Given the description of an element on the screen output the (x, y) to click on. 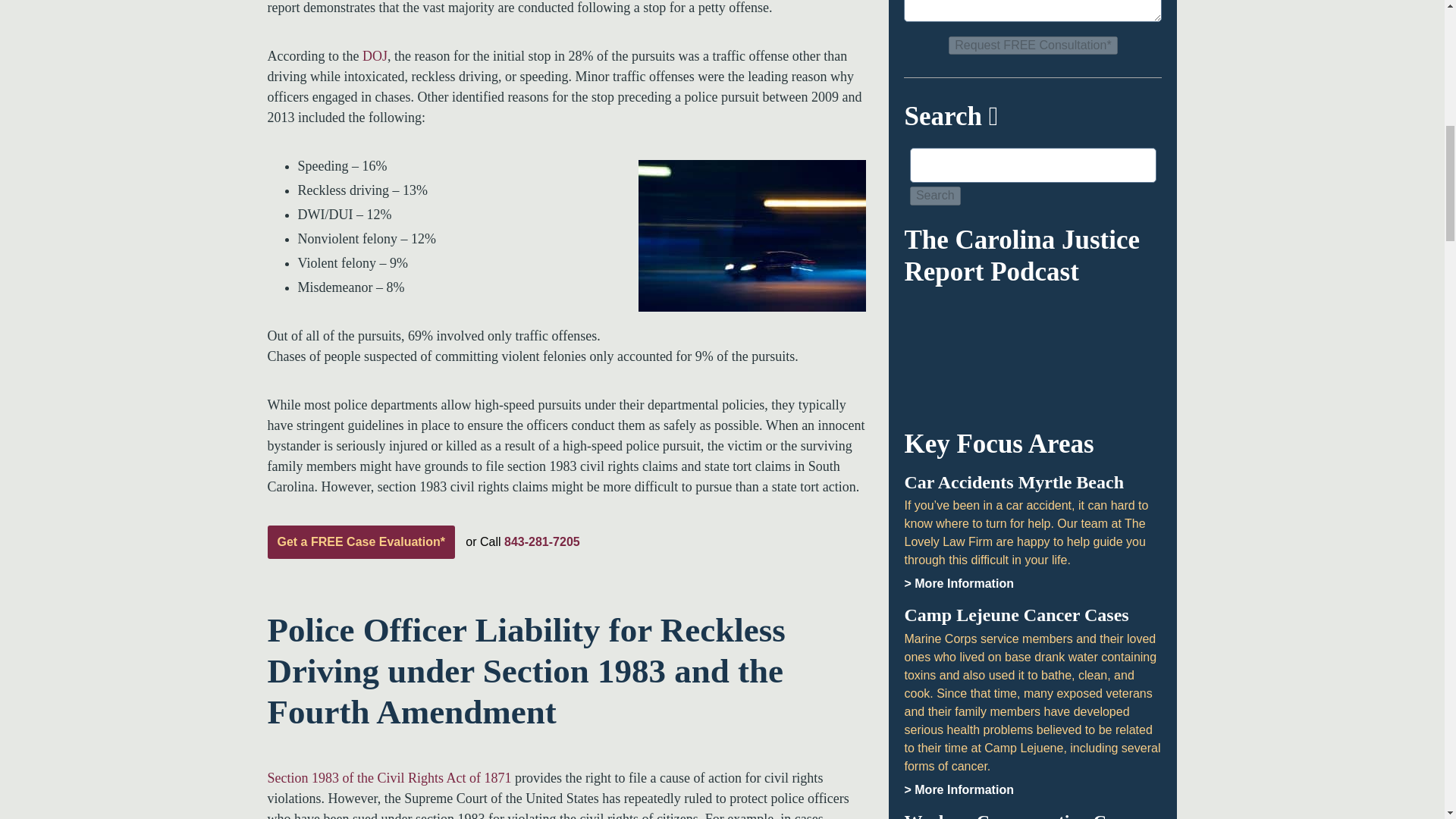
Search (935, 195)
